Given the description of an element on the screen output the (x, y) to click on. 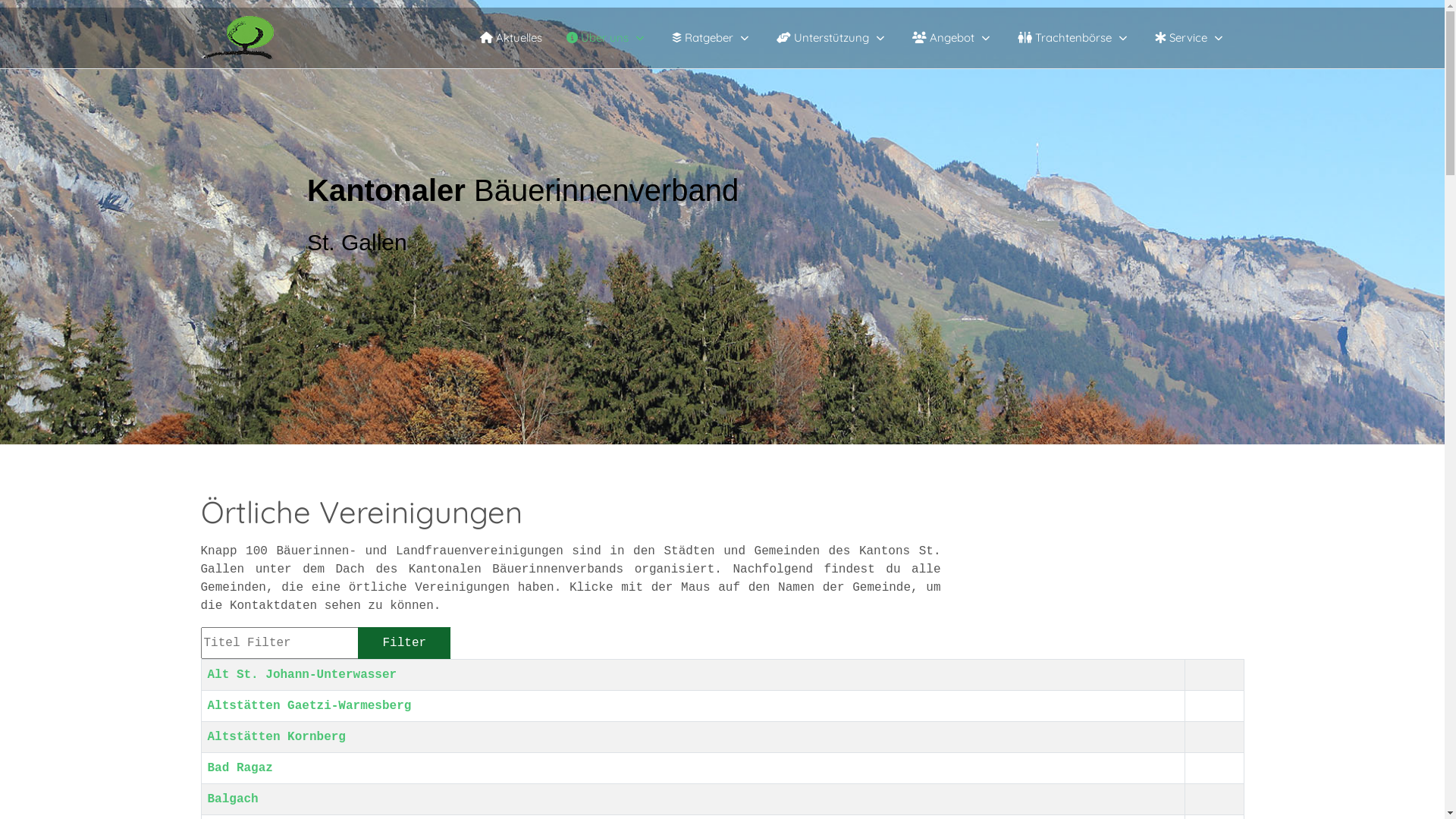
Service Element type: text (1189, 37)
Balgach Element type: text (232, 799)
Alt St. Johann-Unterwasser Element type: text (302, 674)
Filter Element type: text (404, 642)
Angebot Element type: text (951, 37)
Ratgeber Element type: text (711, 37)
Aktuelles Element type: text (510, 37)
Bad Ragaz Element type: text (240, 768)
